Given the description of an element on the screen output the (x, y) to click on. 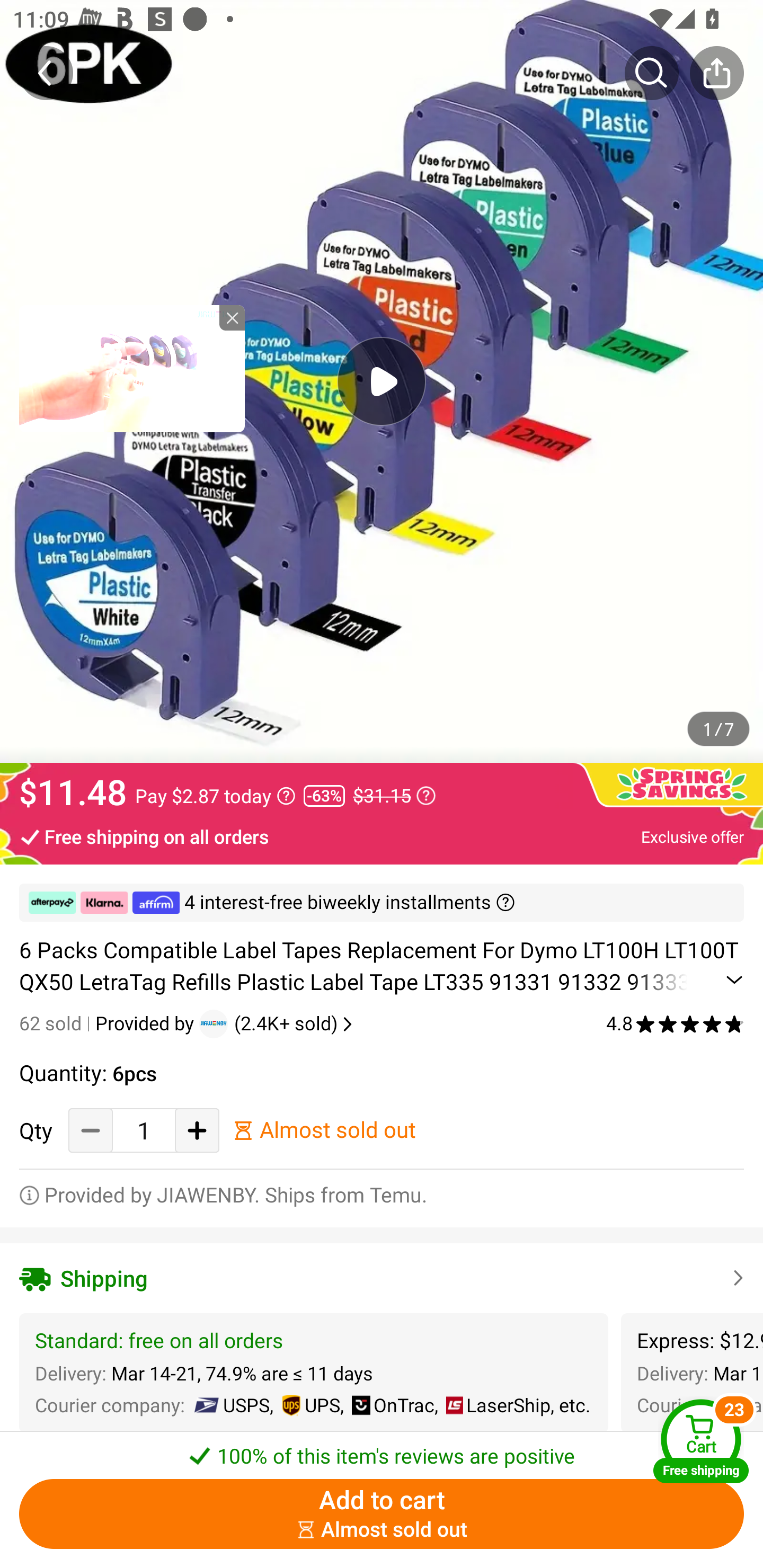
Back (46, 72)
Share (716, 72)
tronplayer_view (131, 368)
Pay $2.87 today   (215, 795)
Free shipping on all orders Exclusive offer (381, 836)
￼ ￼ ￼ 4 interest-free biweekly installments ￼ (381, 902)
62 sold Provided by  (109, 1023)
4.8 (674, 1023)
Decrease Quantity Button (90, 1130)
1 (143, 1130)
Add Quantity button (196, 1130)
Shipping (381, 1278)
Cart Free shipping Cart (701, 1440)
￼￼100% of this item's reviews are positive (381, 1450)
Add to cart ￼￼Almost sold out (381, 1513)
